Given the description of an element on the screen output the (x, y) to click on. 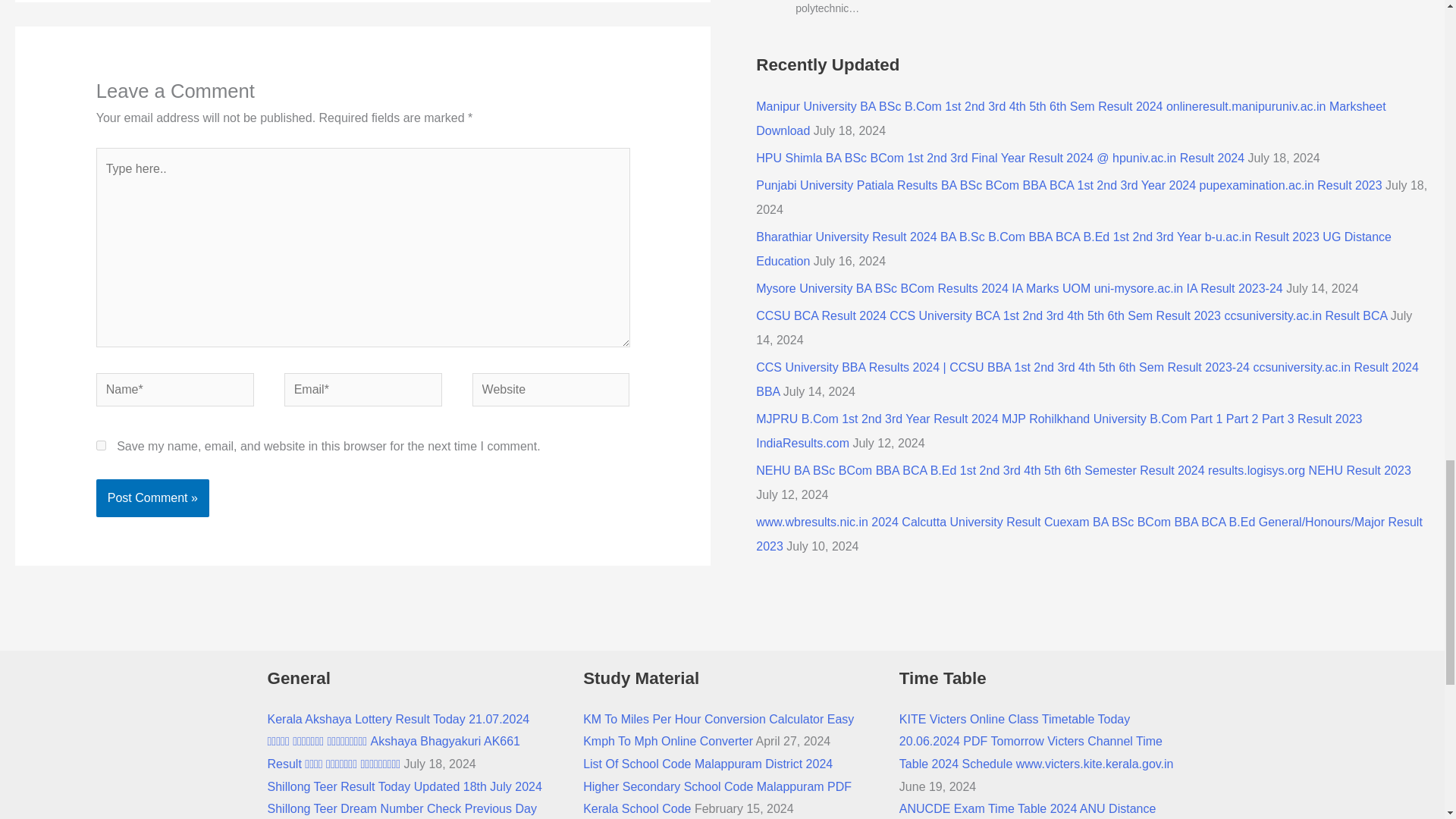
yes (101, 445)
